Given the description of an element on the screen output the (x, y) to click on. 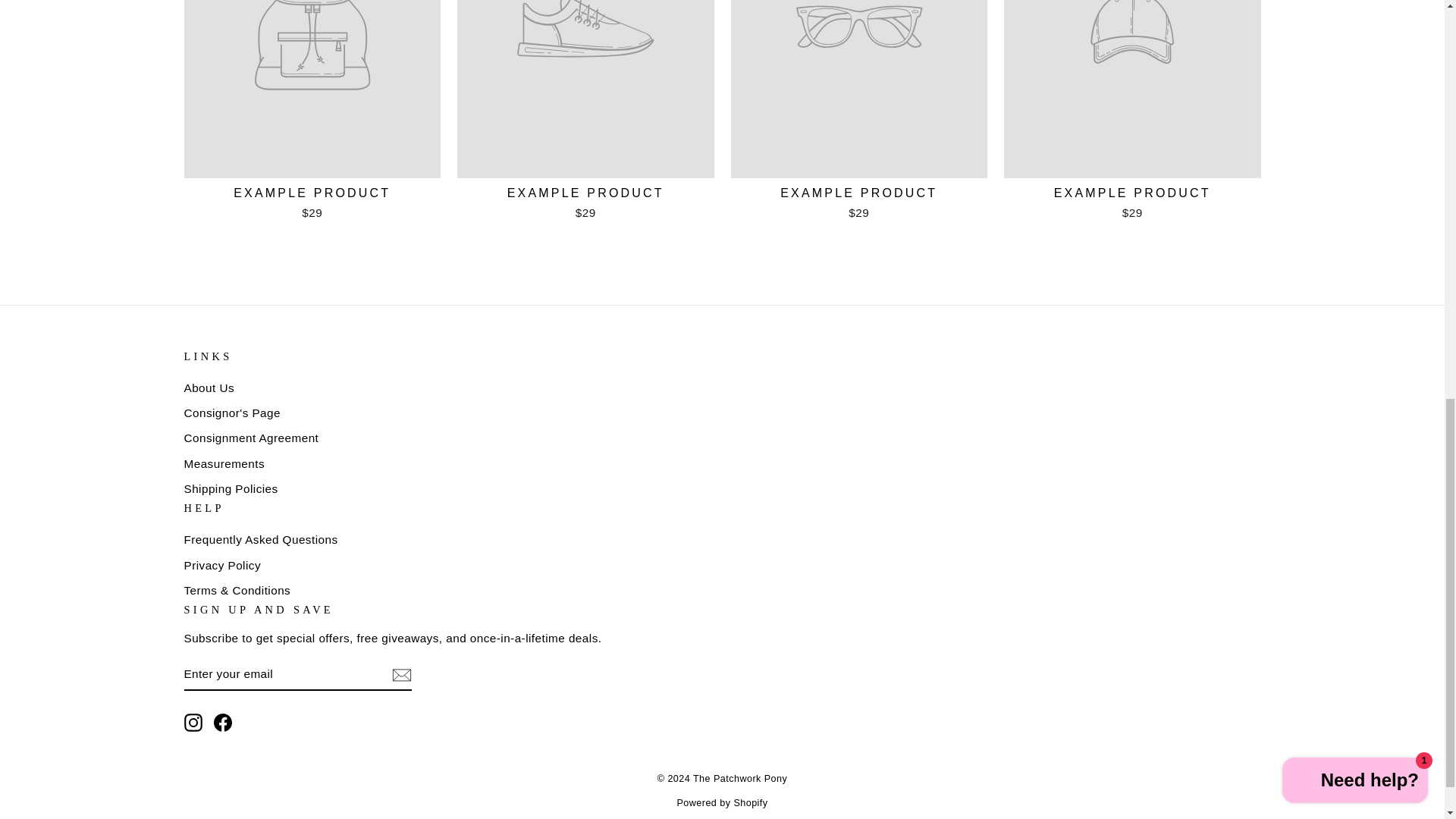
The Patchwork Pony on Facebook (222, 722)
instagram (192, 722)
The Patchwork Pony on Instagram (192, 722)
icon-email (400, 674)
